Given the description of an element on the screen output the (x, y) to click on. 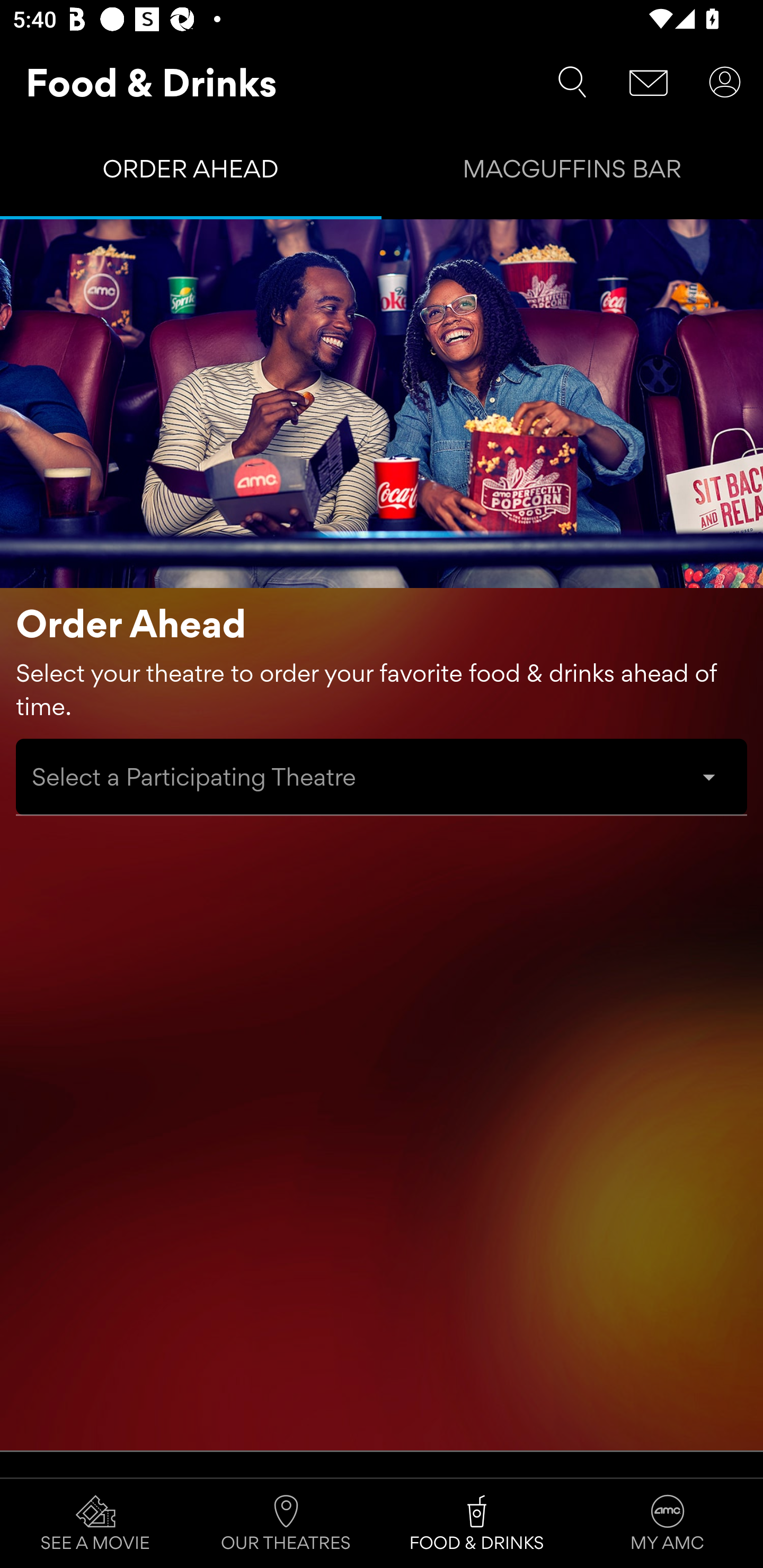
Search (572, 82)
Message Center (648, 82)
User Account (724, 82)
ORDER AHEAD
Tab 1 of 2 (190, 173)
MACGUFFINS BAR
Tab 2 of 2 (572, 173)
SEE A MOVIE
Tab 1 of 4 (95, 1523)
OUR THEATRES
Tab 2 of 4 (285, 1523)
FOOD & DRINKS
Tab 3 of 4 (476, 1523)
MY AMC
Tab 4 of 4 (667, 1523)
